Given the description of an element on the screen output the (x, y) to click on. 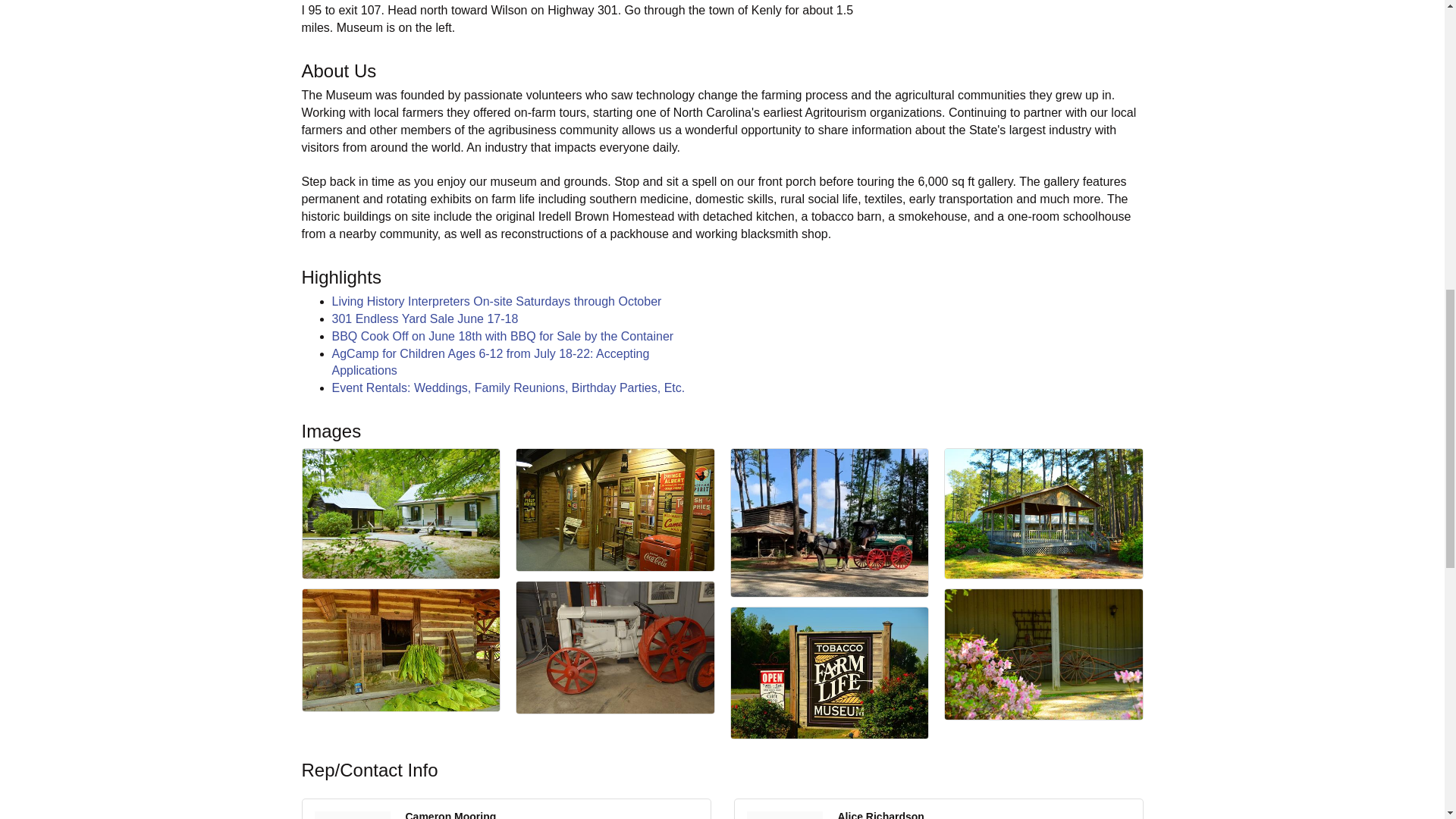
Gallery Image Farmhouses.JPG (400, 513)
Gallery Image exhibit.jpg (615, 509)
Gallery Image SIGN.jpg (829, 672)
Gallery Image barn.jpg (400, 649)
